Given the description of an element on the screen output the (x, y) to click on. 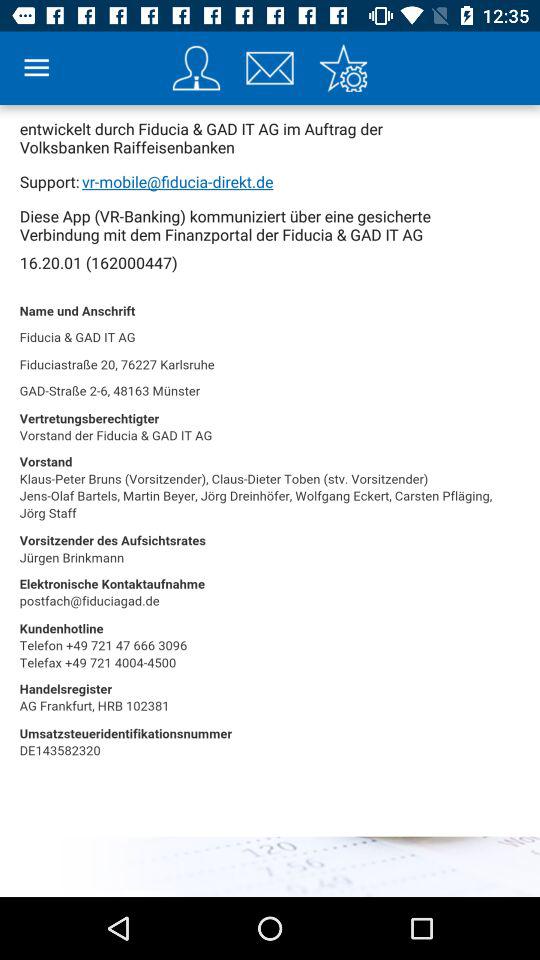
go to rating (343, 67)
